Given the description of an element on the screen output the (x, y) to click on. 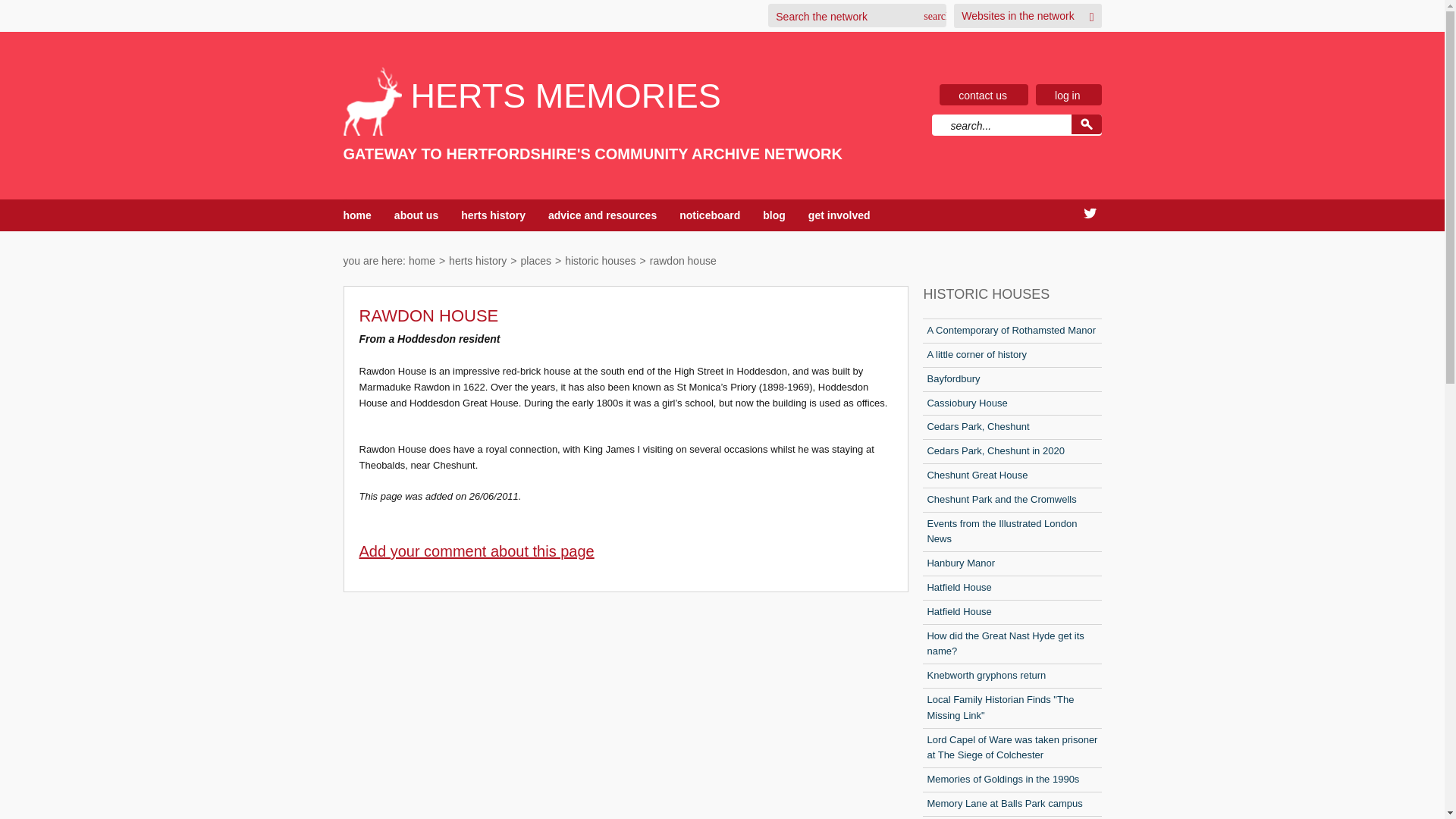
Websites in the network (1017, 15)
Search... (1000, 125)
herts history (493, 214)
blog (774, 214)
Go (1085, 124)
Search (930, 16)
Search (930, 16)
Search the network (843, 16)
home (356, 214)
advice and resources (602, 214)
